Given the description of an element on the screen output the (x, y) to click on. 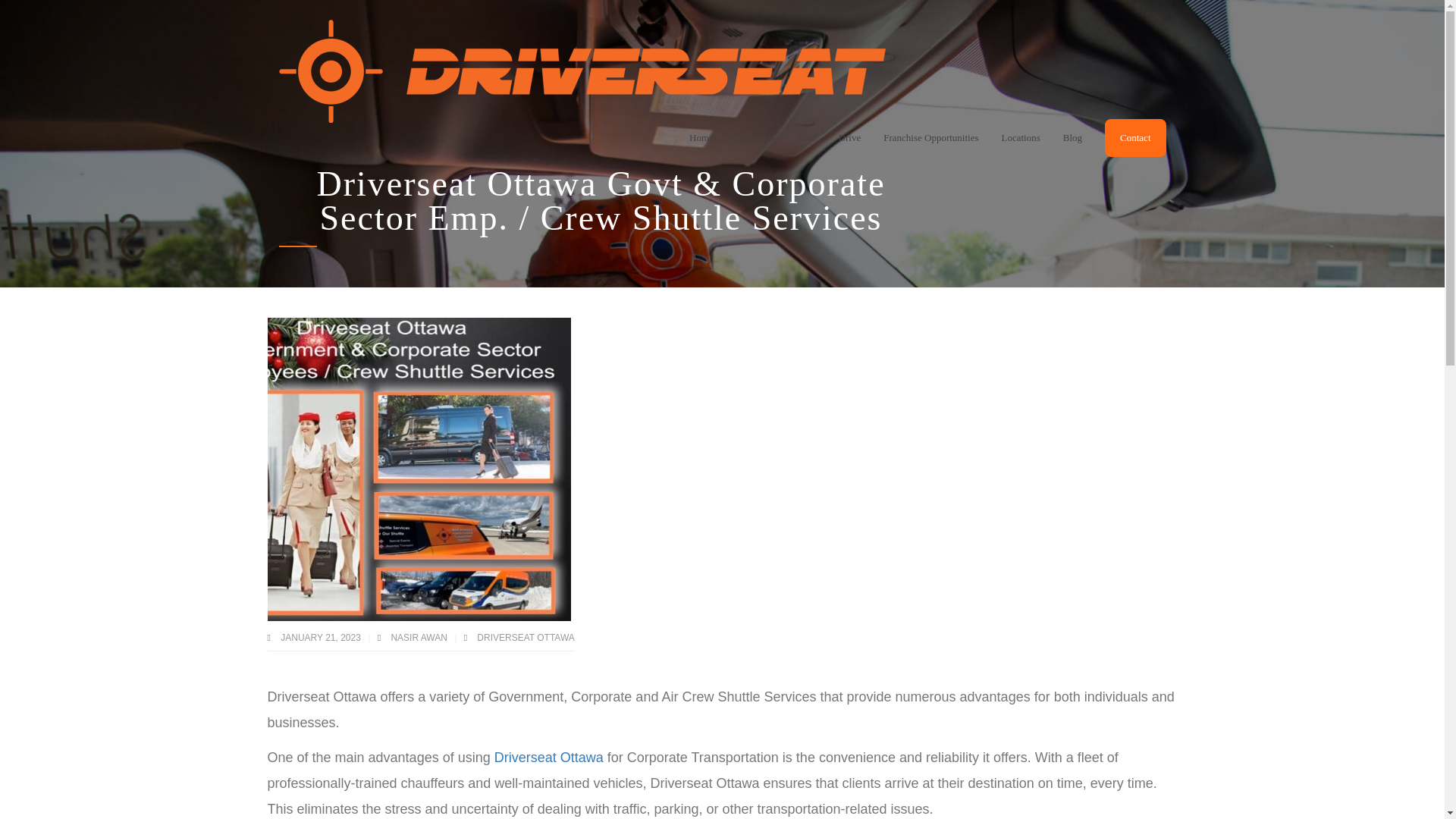
DRIVERSEAT OTTAWA (525, 637)
 Nasir Awan (419, 637)
NASIR AWAN (419, 637)
Driverseat Ottawa (549, 757)
Franchise Opportunities (930, 137)
Contact (1135, 137)
Locations (1020, 137)
About Us (755, 137)
